Given the description of an element on the screen output the (x, y) to click on. 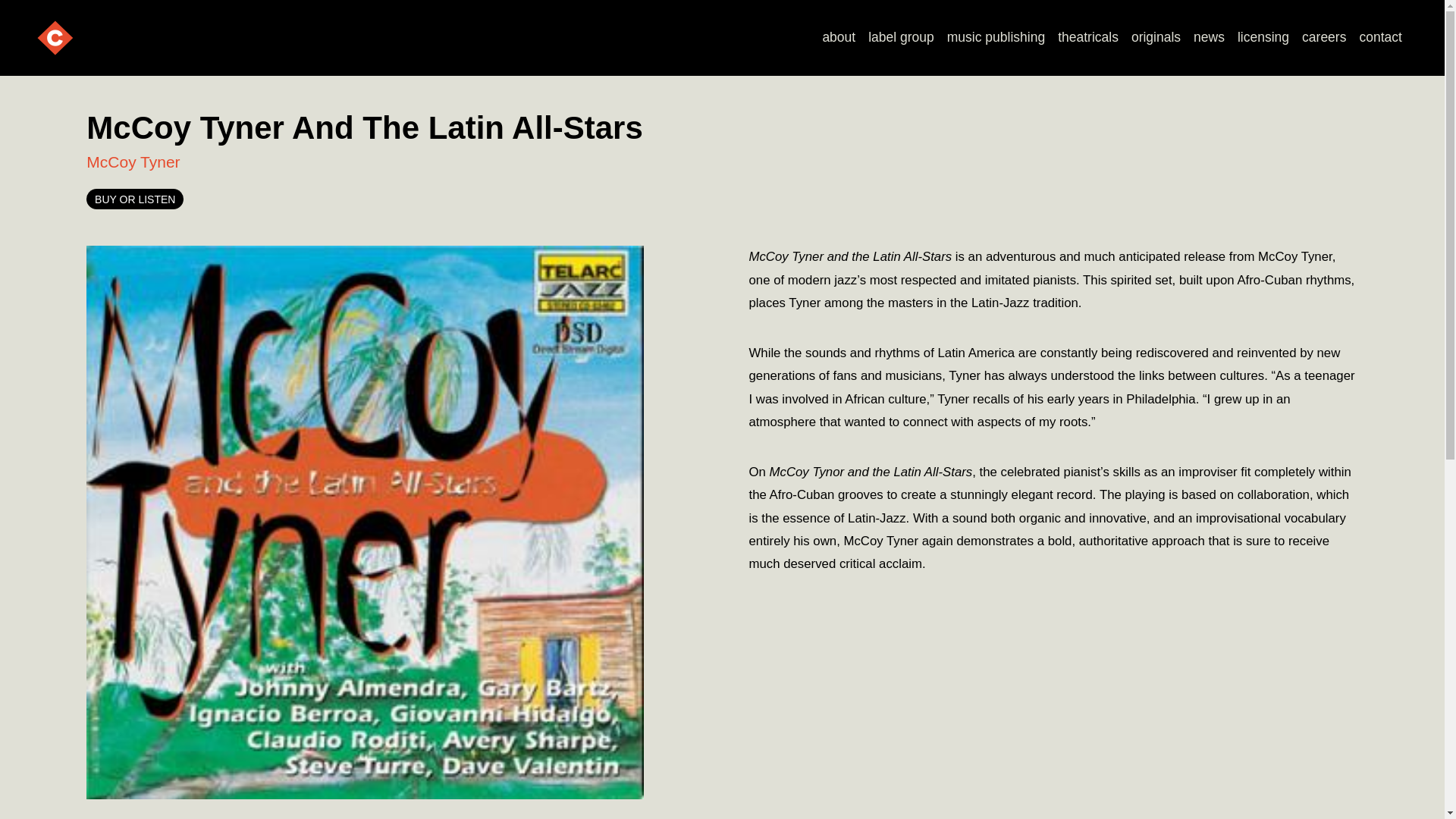
originals (1155, 38)
news (1209, 38)
careers (1323, 38)
label group (900, 38)
music publishing (995, 38)
licensing (1262, 38)
theatricals (1088, 38)
about (838, 38)
contact (1379, 38)
